Given the description of an element on the screen output the (x, y) to click on. 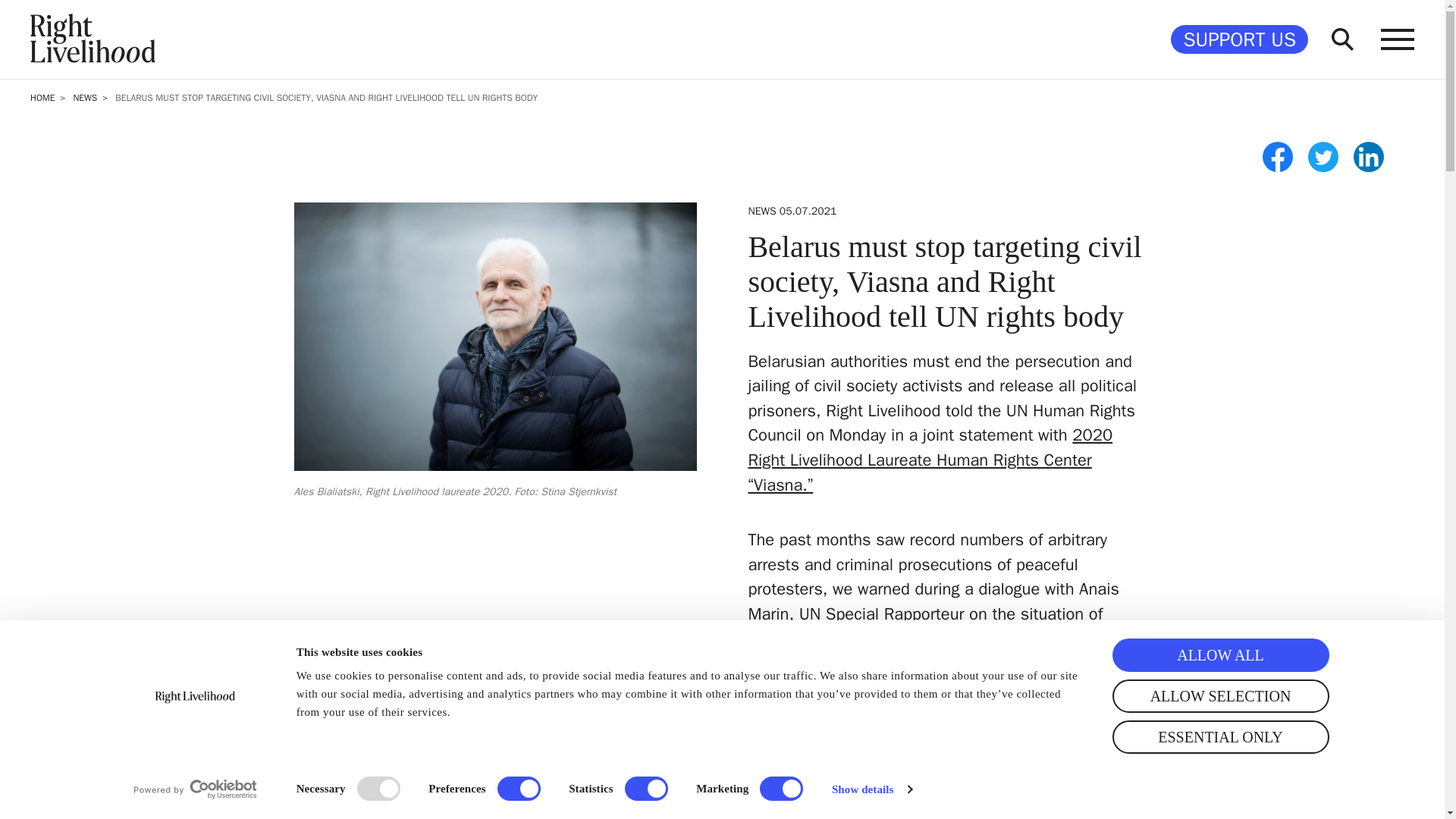
Show details (871, 789)
